Given the description of an element on the screen output the (x, y) to click on. 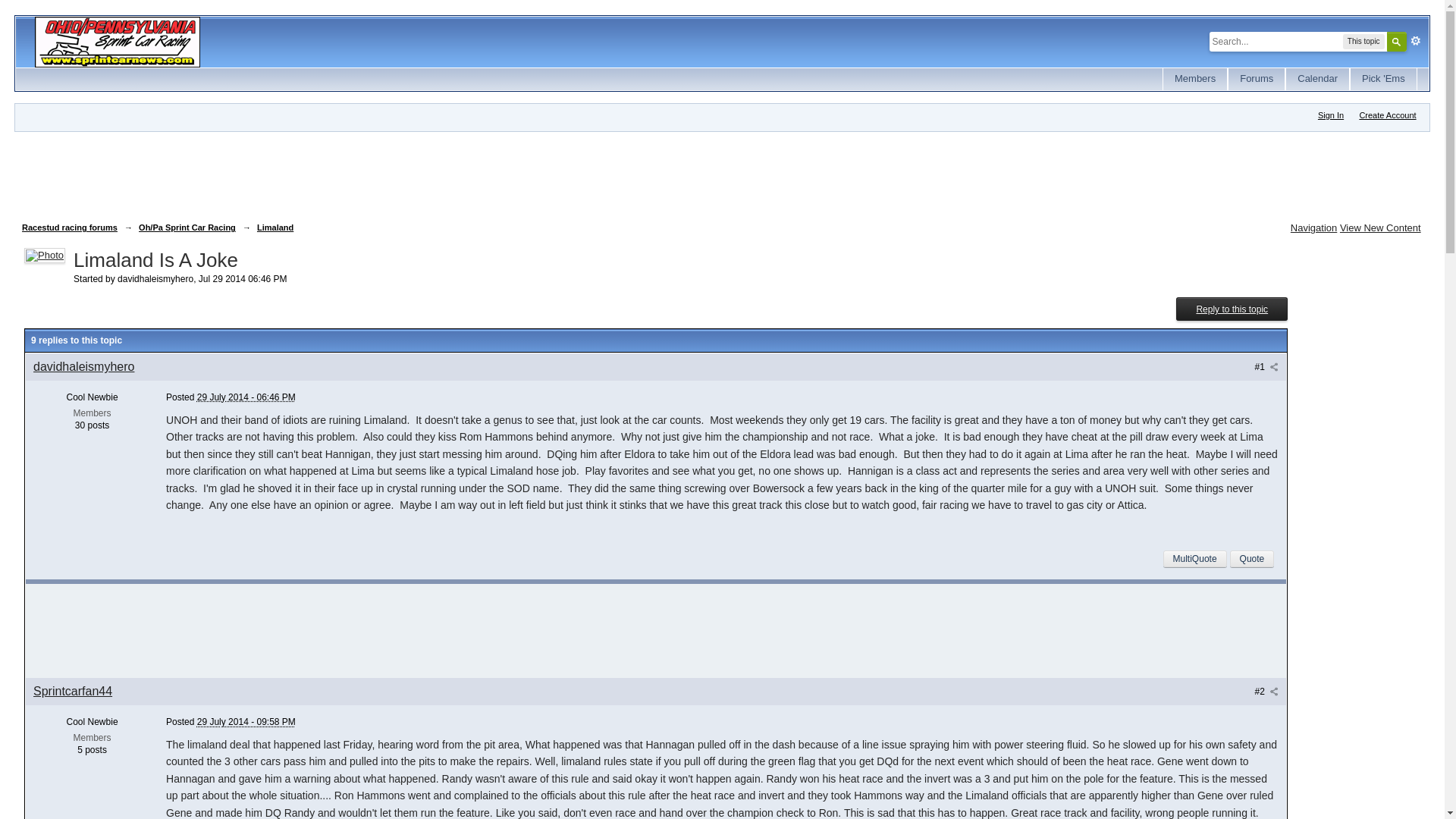
Quote (1252, 558)
Pick 'Ems (1383, 78)
Sprintcarfan44 (72, 690)
Navigation (1313, 227)
Racestud racing forums (69, 226)
Reply to this topic (1231, 309)
Go to Members (1195, 78)
Limaland (275, 226)
Advanced (1415, 40)
View New Content (1380, 227)
Calendar (1317, 78)
Advertisement (297, 173)
Sign In (1330, 114)
Sign In (1330, 114)
Go to Calendar (1317, 78)
